Given the description of an element on the screen output the (x, y) to click on. 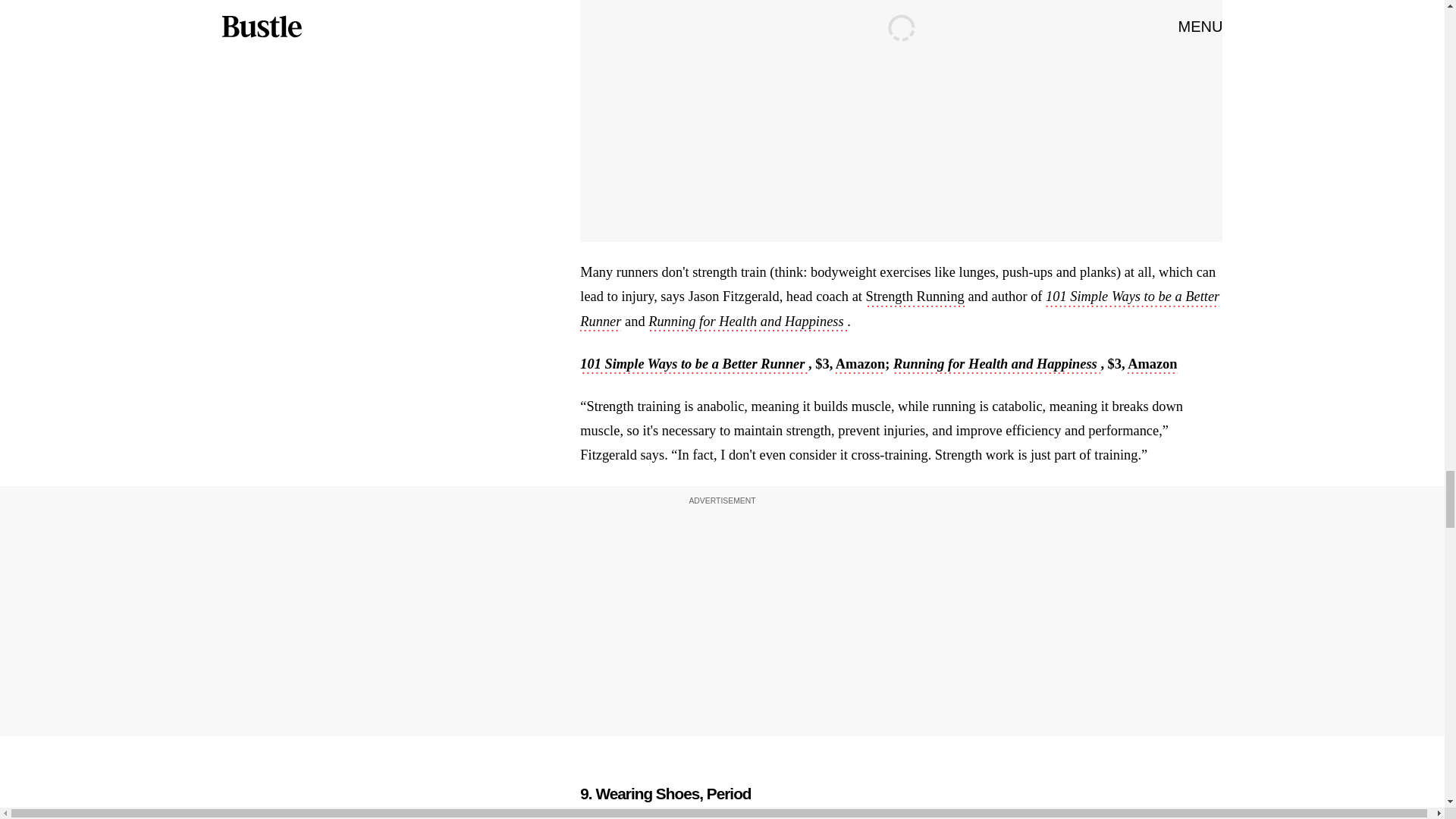
Amazon (1151, 365)
Strength Running (914, 298)
Running for Health and Happiness (996, 365)
Amazon (860, 365)
Running for Health and Happiness (747, 322)
101 Simple Ways to be a Better Runner (899, 310)
101 Simple Ways to be a Better Runner (693, 365)
